Given the description of an element on the screen output the (x, y) to click on. 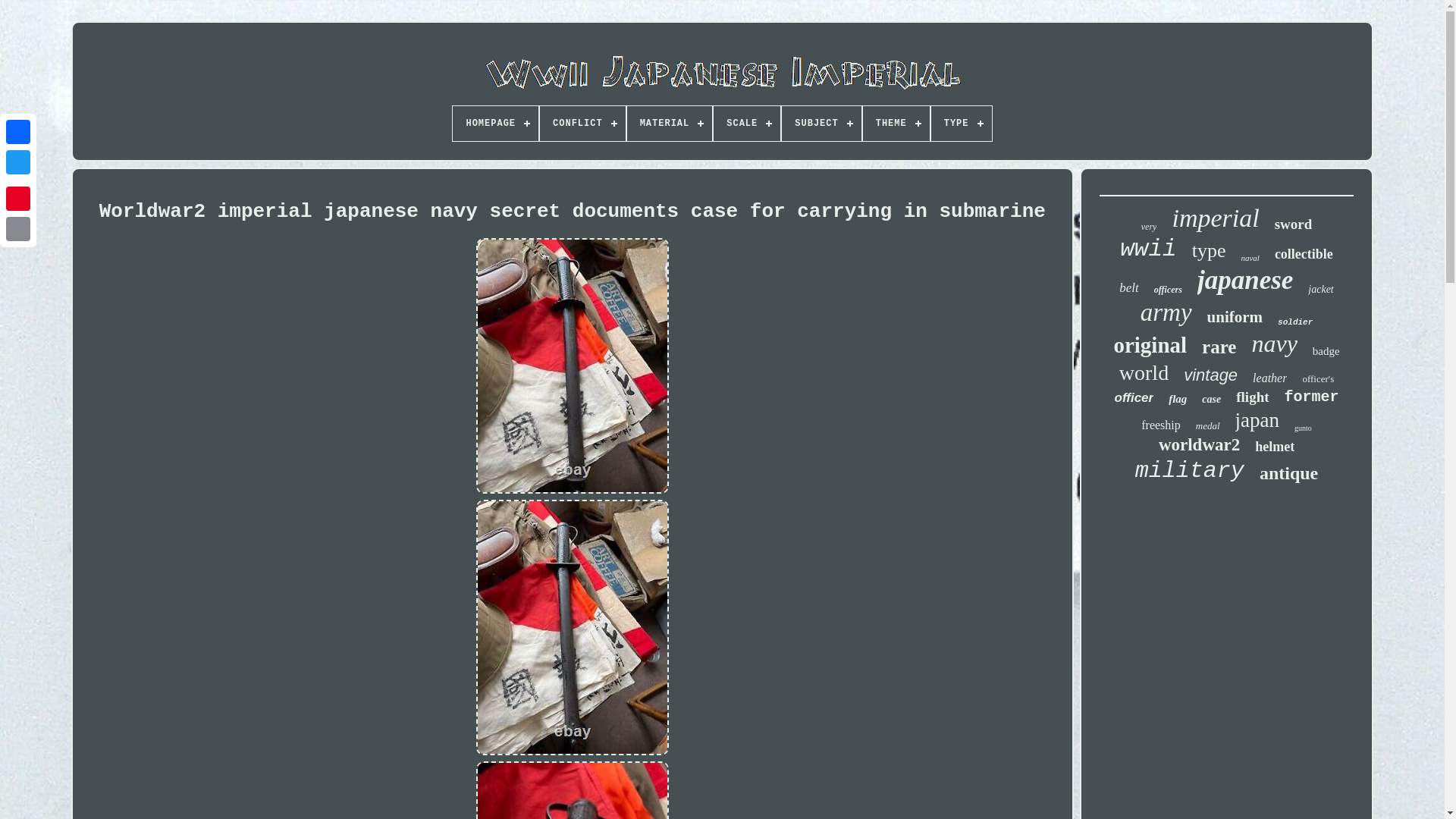
SUBJECT (820, 123)
CONFLICT (583, 123)
THEME (896, 123)
HOMEPAGE (495, 123)
MATERIAL (670, 123)
SCALE (746, 123)
